Given the description of an element on the screen output the (x, y) to click on. 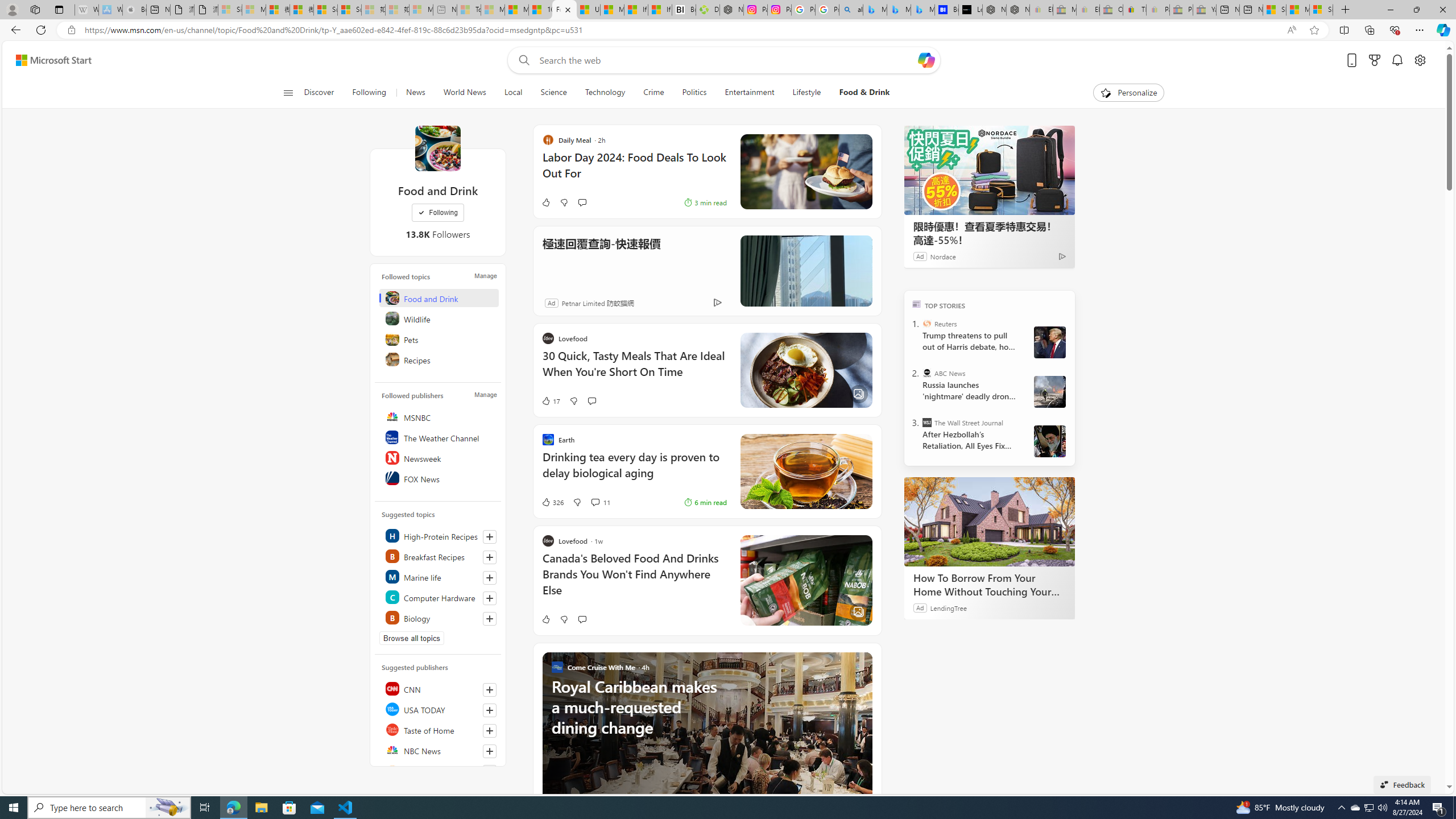
FOX News (439, 478)
Ad Choice (717, 302)
Reuters (439, 770)
Politics (694, 92)
326 Like (551, 502)
World News (464, 92)
How To Borrow From Your Home Without Touching Your Mortgage (988, 584)
